Given the description of an element on the screen output the (x, y) to click on. 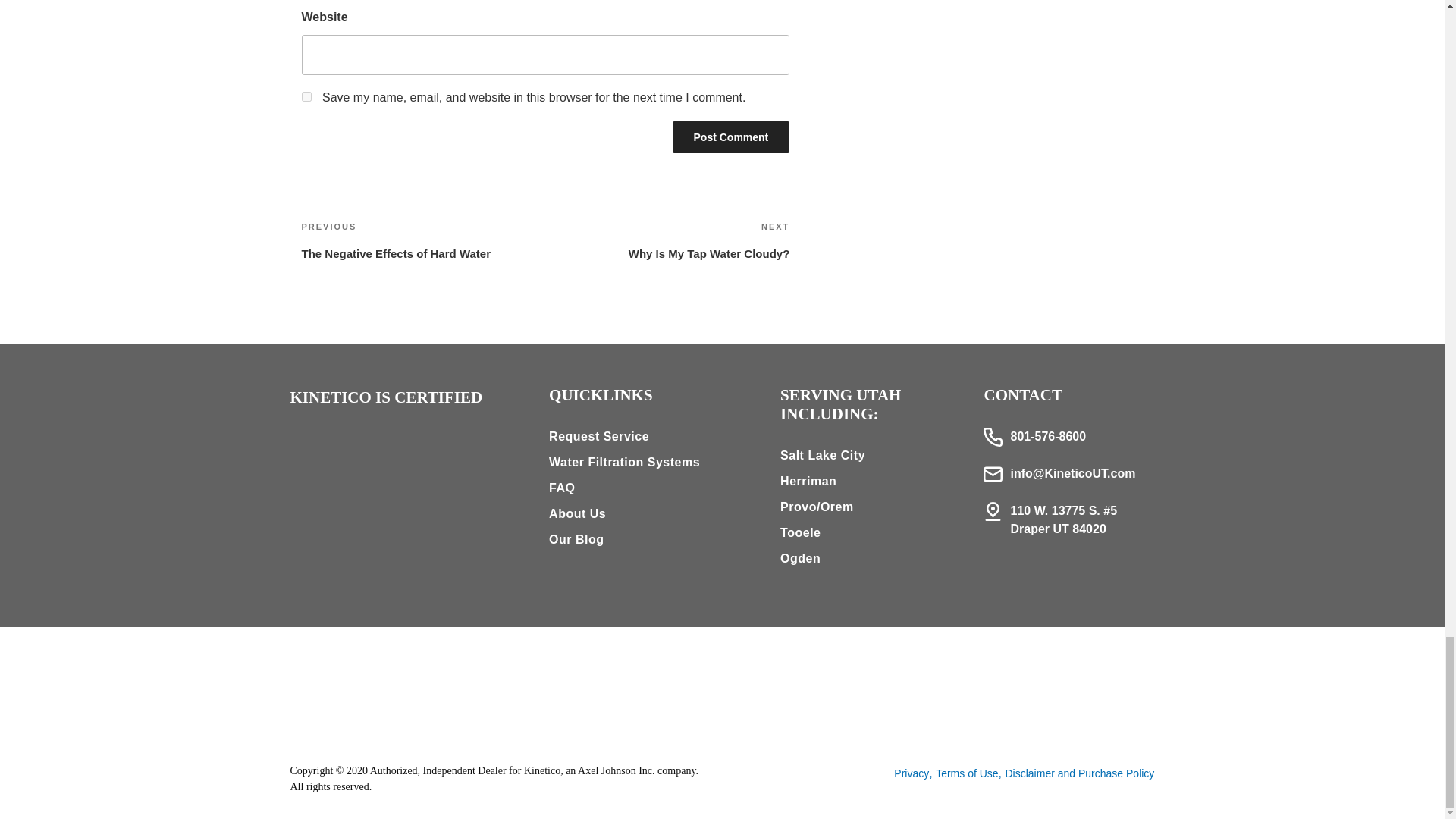
GoldSealColorCMYK (666, 240)
Post Comment (471, 449)
yes (730, 137)
MADEINUSA (306, 96)
footer-logo (305, 445)
Post Comment (722, 689)
NSF (730, 137)
Request Service (361, 448)
